Given the description of an element on the screen output the (x, y) to click on. 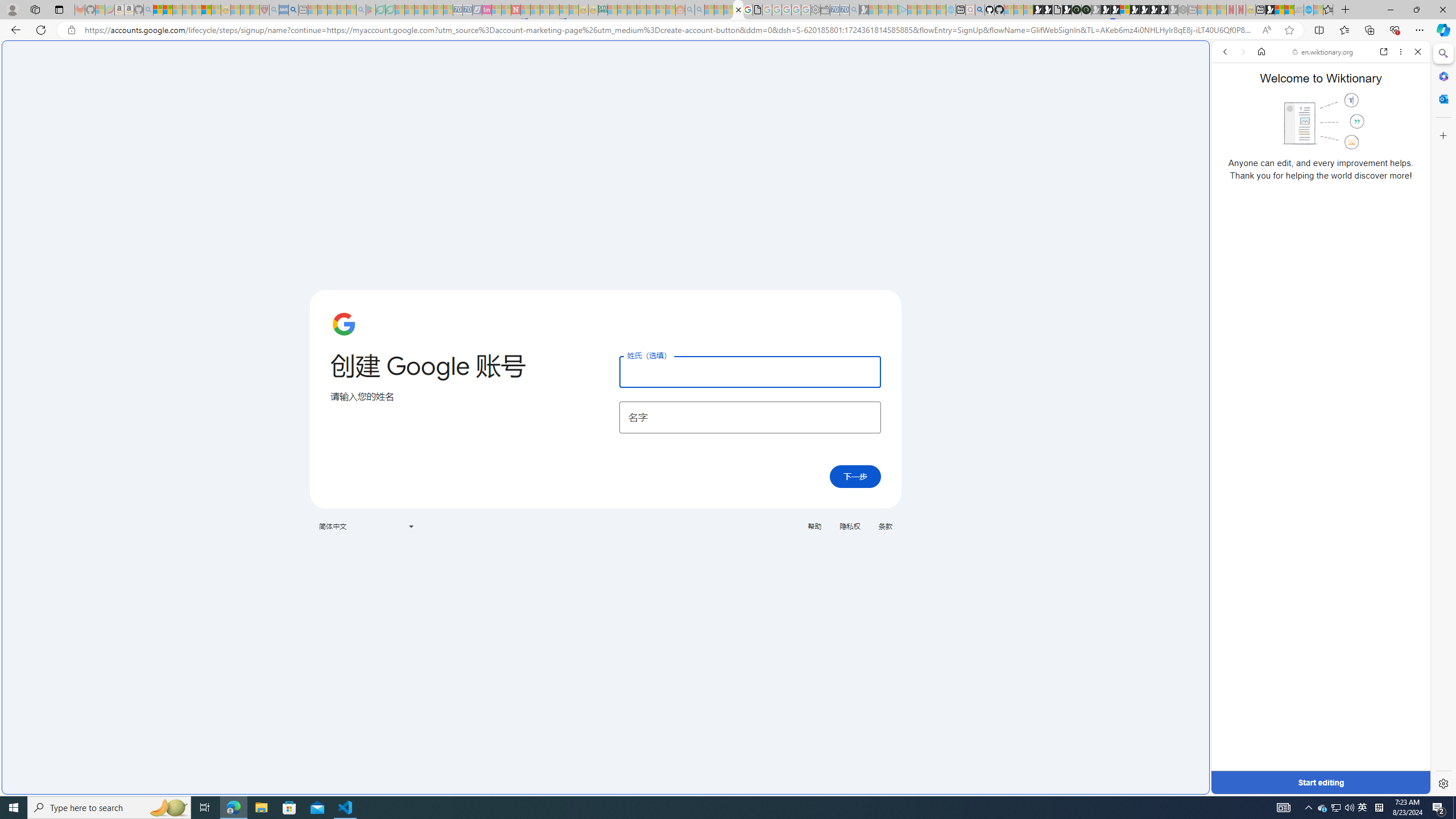
Search or enter web address (922, 108)
